Given the description of an element on the screen output the (x, y) to click on. 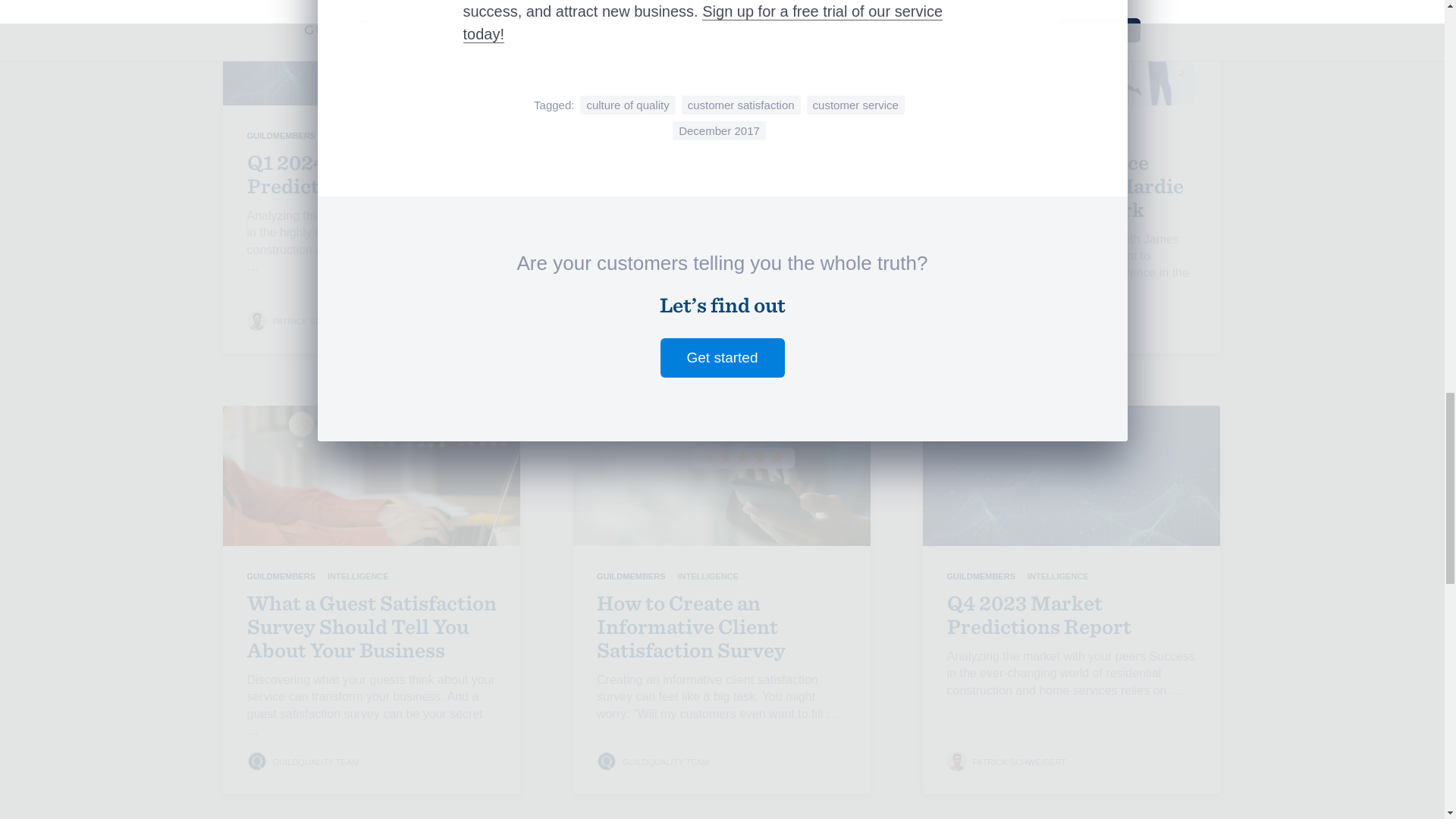
culture of quality (627, 104)
customer satisfaction (740, 104)
customer service (855, 104)
December 2017 (718, 130)
Sign up for a free trial of our service today! (702, 23)
